Given the description of an element on the screen output the (x, y) to click on. 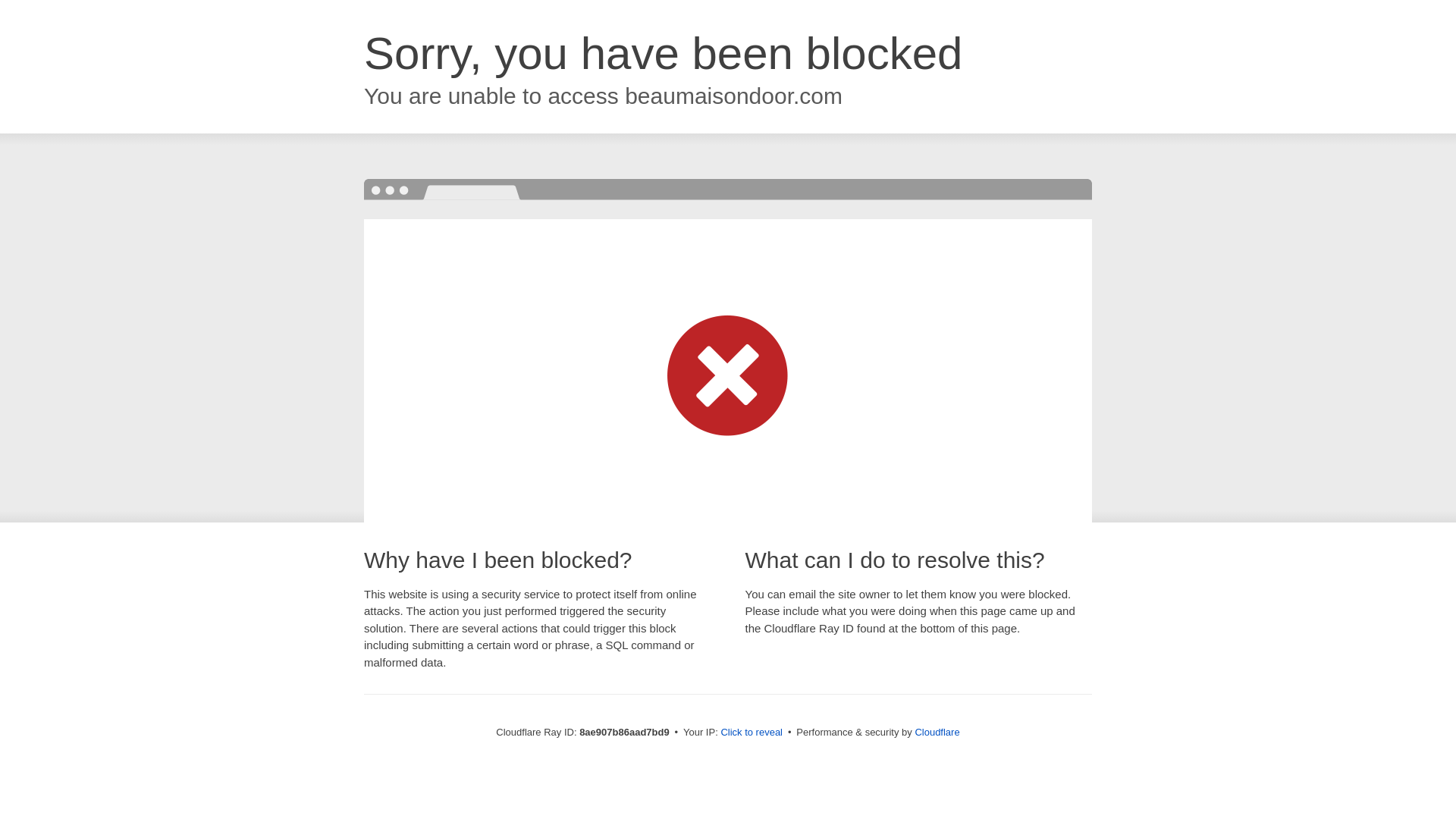
Cloudflare (936, 731)
Click to reveal (751, 732)
